Given the description of an element on the screen output the (x, y) to click on. 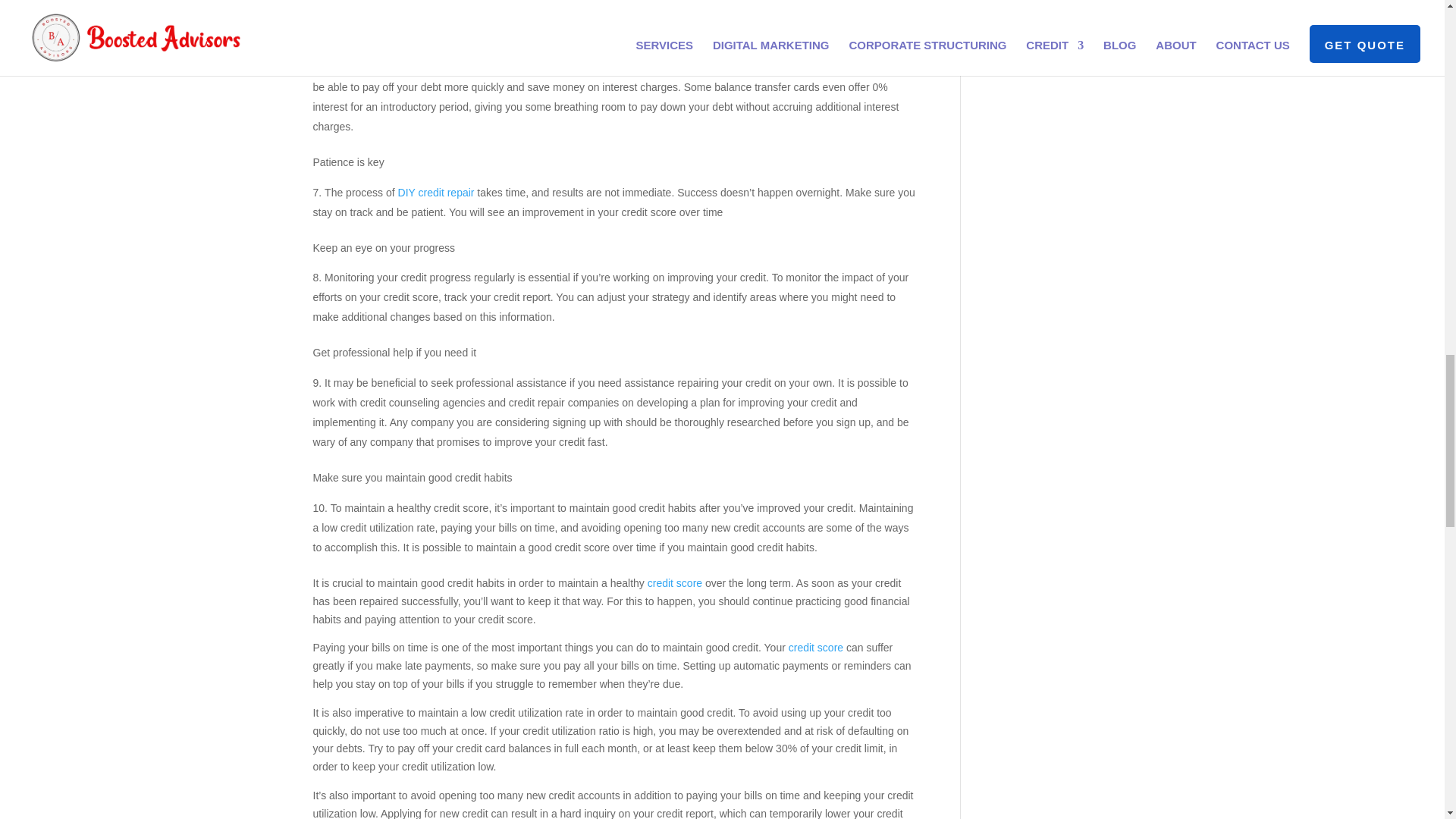
credit score (674, 582)
credit score (816, 647)
DIY credit repair (435, 192)
interest rate (497, 67)
